Given the description of an element on the screen output the (x, y) to click on. 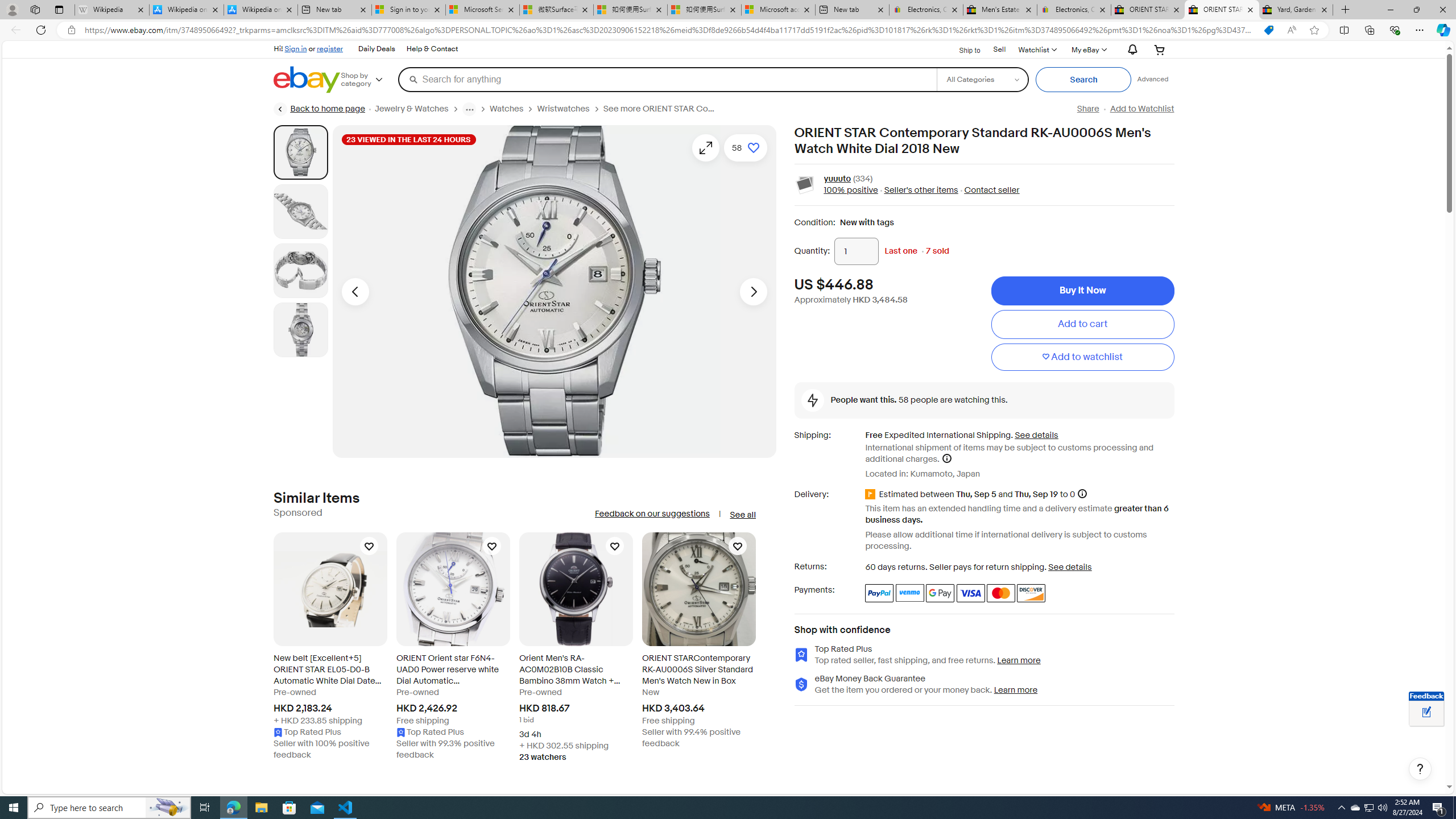
Picture 2 of 4 (300, 211)
eBay Home (306, 79)
Picture 3 of 4 (300, 270)
Jewelry & Watches (411, 108)
Visa (970, 592)
